Given the description of an element on the screen output the (x, y) to click on. 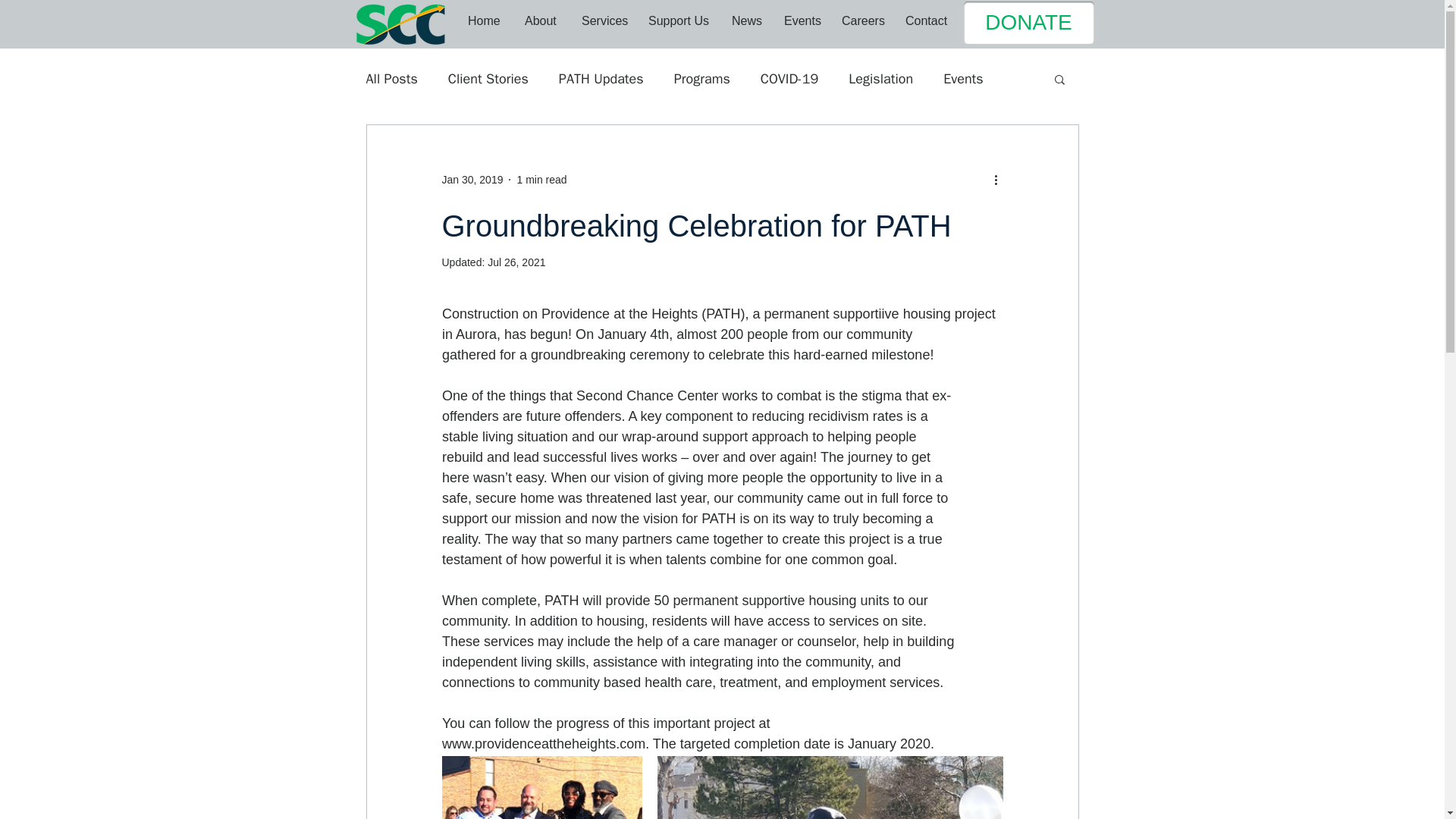
DONATE (1027, 22)
PATH Updates (601, 78)
Support Us (678, 20)
Programs (702, 78)
Events (963, 78)
Client Stories (488, 78)
COVID-19 (789, 78)
Home (485, 20)
News (746, 20)
About (541, 20)
Jul 26, 2021 (515, 262)
Services (603, 20)
All Posts (390, 78)
Contact (926, 20)
1 min read (541, 178)
